Given the description of an element on the screen output the (x, y) to click on. 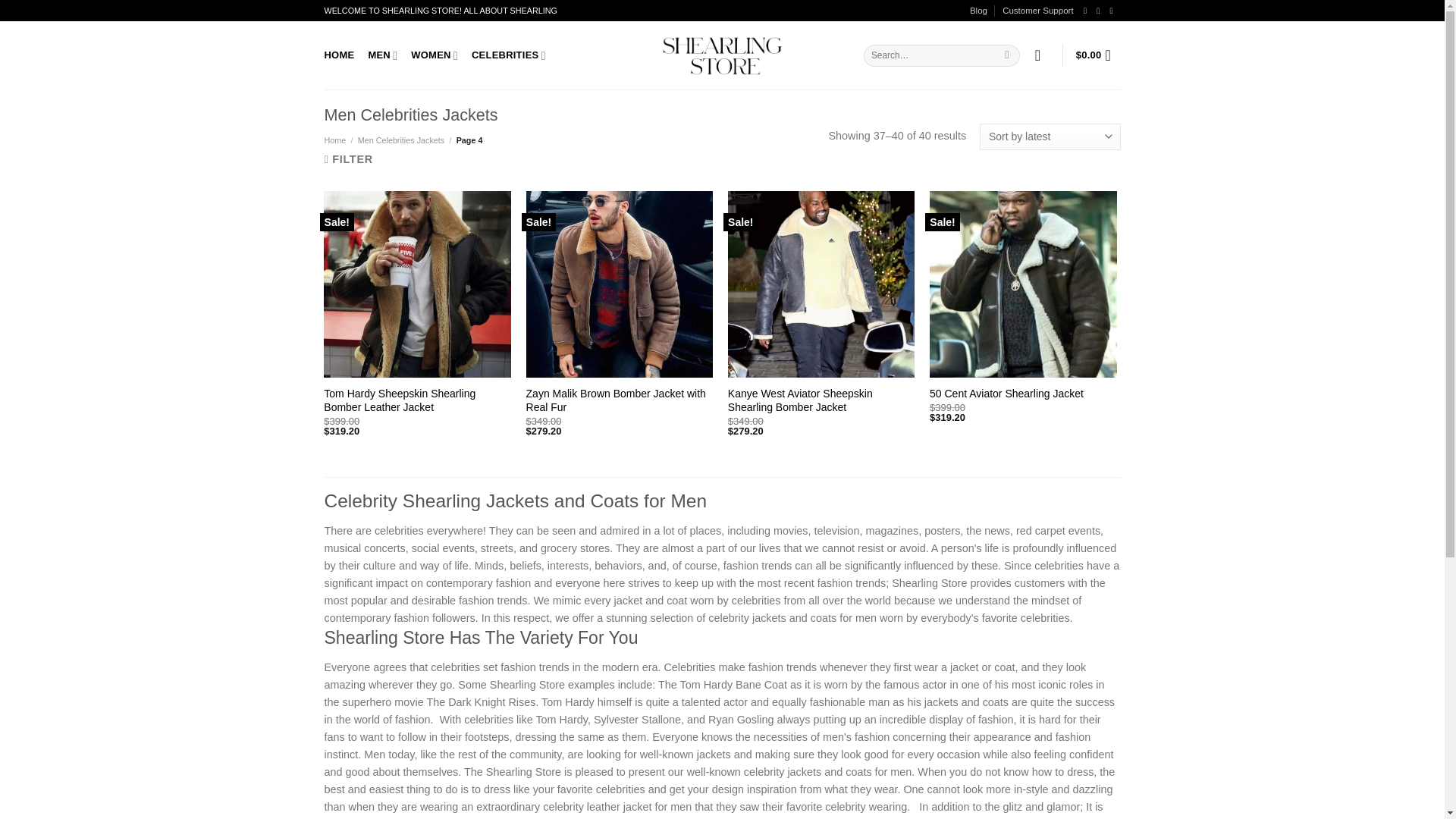
Search (1006, 55)
Follow on Instagram (1100, 10)
Tom Hardy Sheepskin Shearling Bomber Leather Jacket (417, 400)
CELEBRITIES (508, 55)
WOMEN (434, 55)
Men Celebrities Jackets (401, 139)
MEN (382, 55)
Follow on Pinterest (1113, 10)
Cart (1098, 55)
Home (335, 139)
HOME (339, 54)
Zayn Malik Brown Bomber Jacket with Real Fur (619, 400)
FILTER (348, 159)
Shearling Store - All about shearling! (722, 55)
Customer Support (1038, 10)
